Given the description of an element on the screen output the (x, y) to click on. 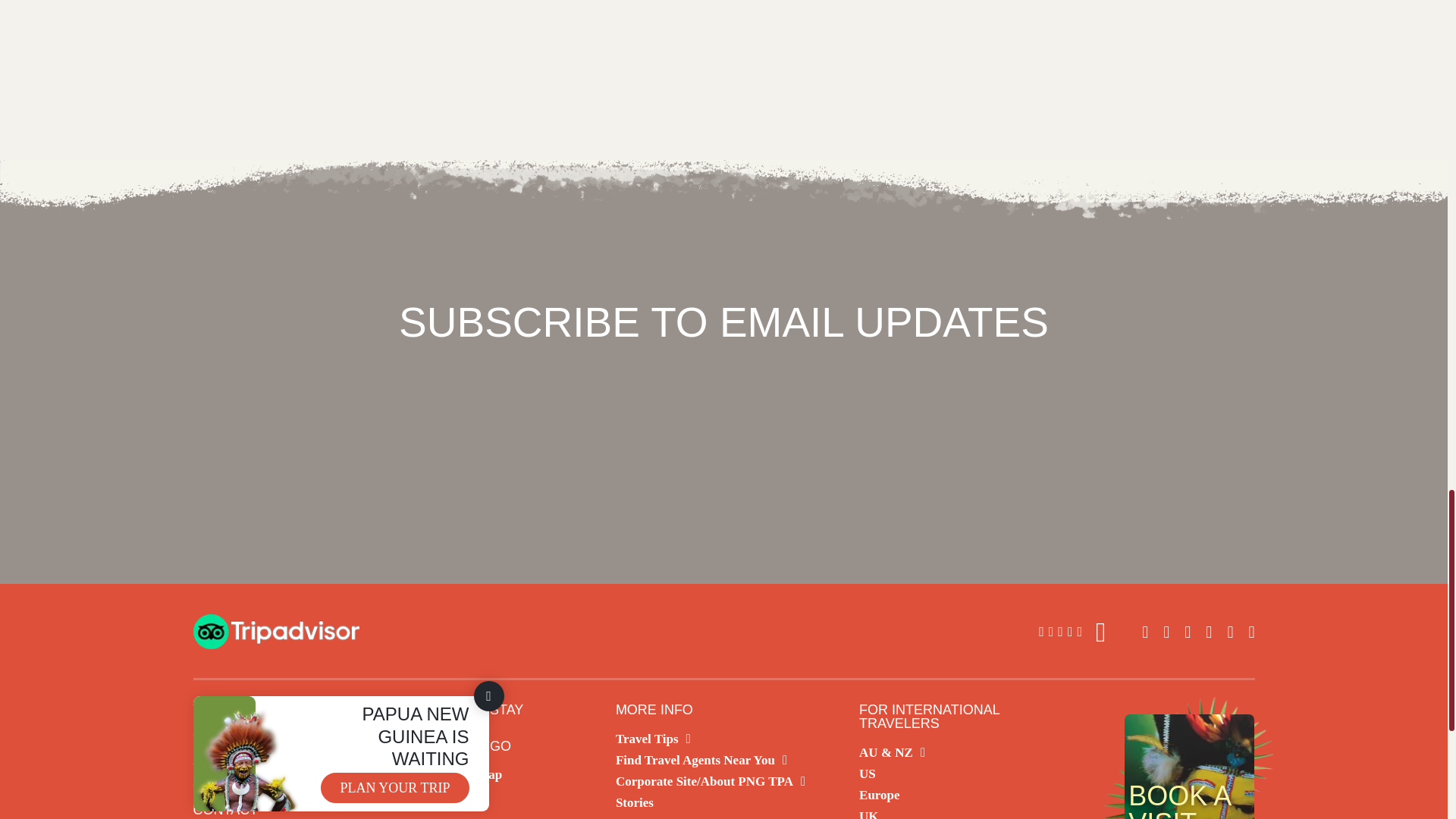
LinkedIn (1208, 632)
Google Reviews (1072, 632)
Youtube (1230, 632)
Pinterest (1250, 632)
Instagram (1166, 632)
Facebook (1188, 632)
Twitter (1144, 632)
